Given the description of an element on the screen output the (x, y) to click on. 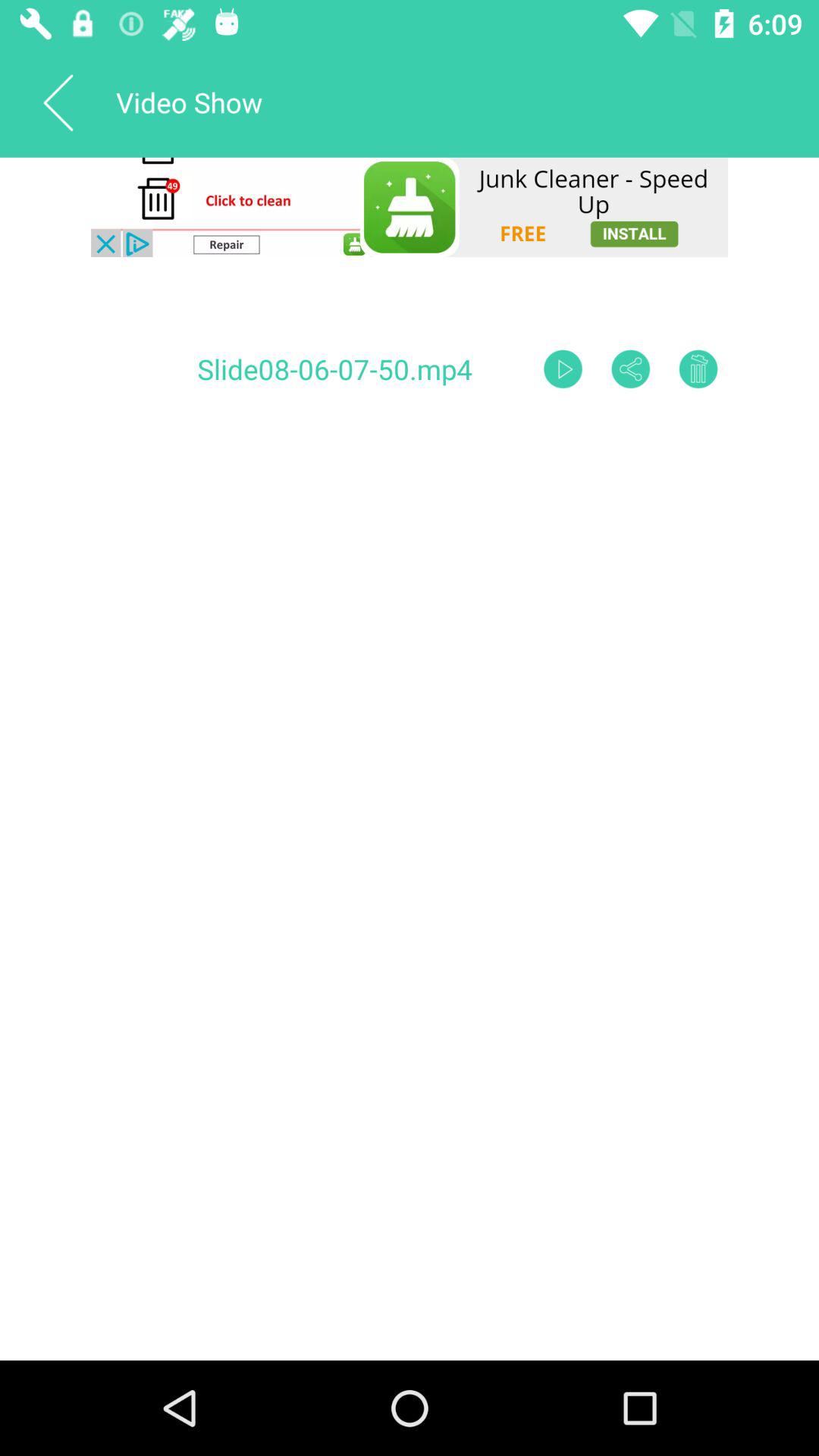
install junk cleaner (409, 207)
